Given the description of an element on the screen output the (x, y) to click on. 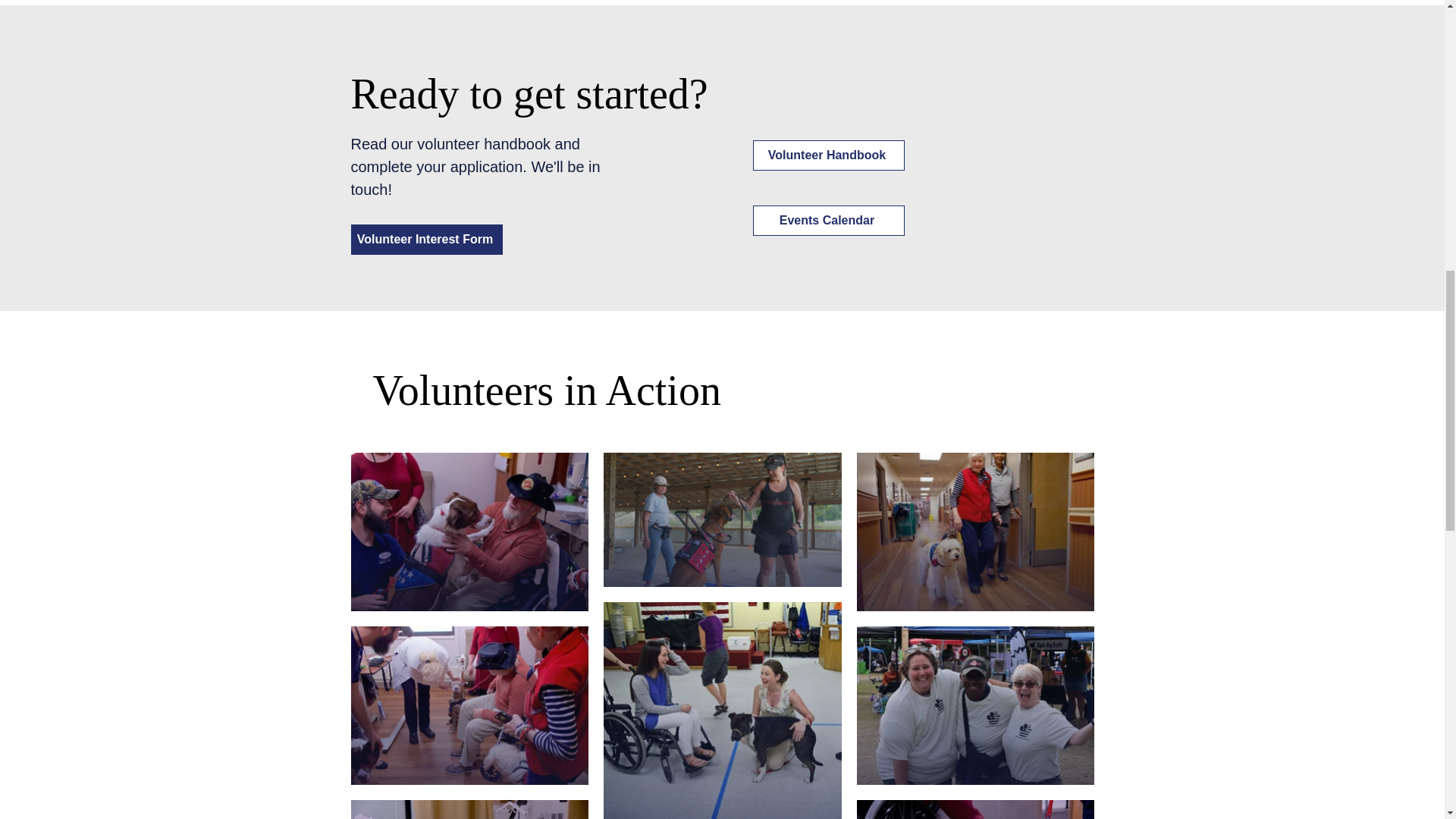
Volunteer Interest Form (426, 239)
Events Calendar (828, 220)
Volunteer Handbook (828, 155)
